Given the description of an element on the screen output the (x, y) to click on. 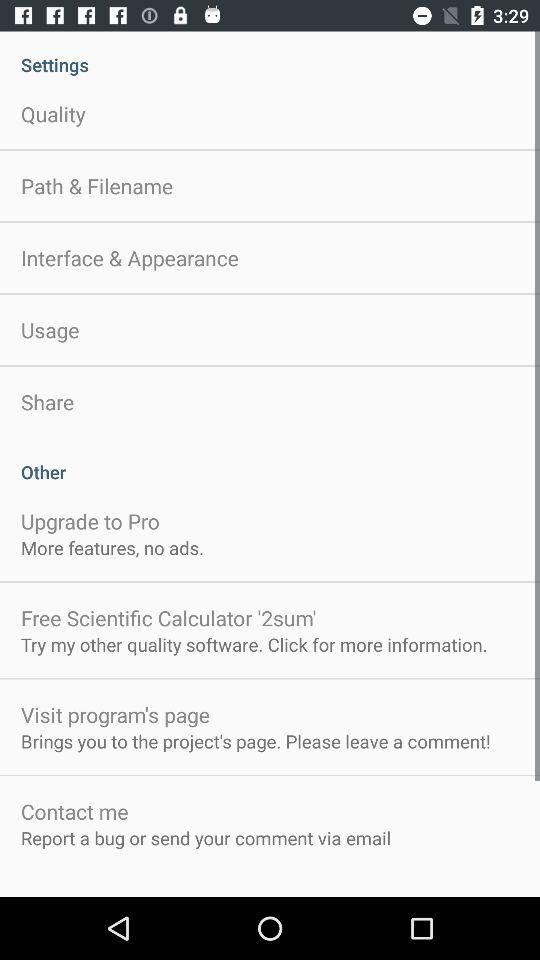
flip until the free scientific calculator app (168, 617)
